Given the description of an element on the screen output the (x, y) to click on. 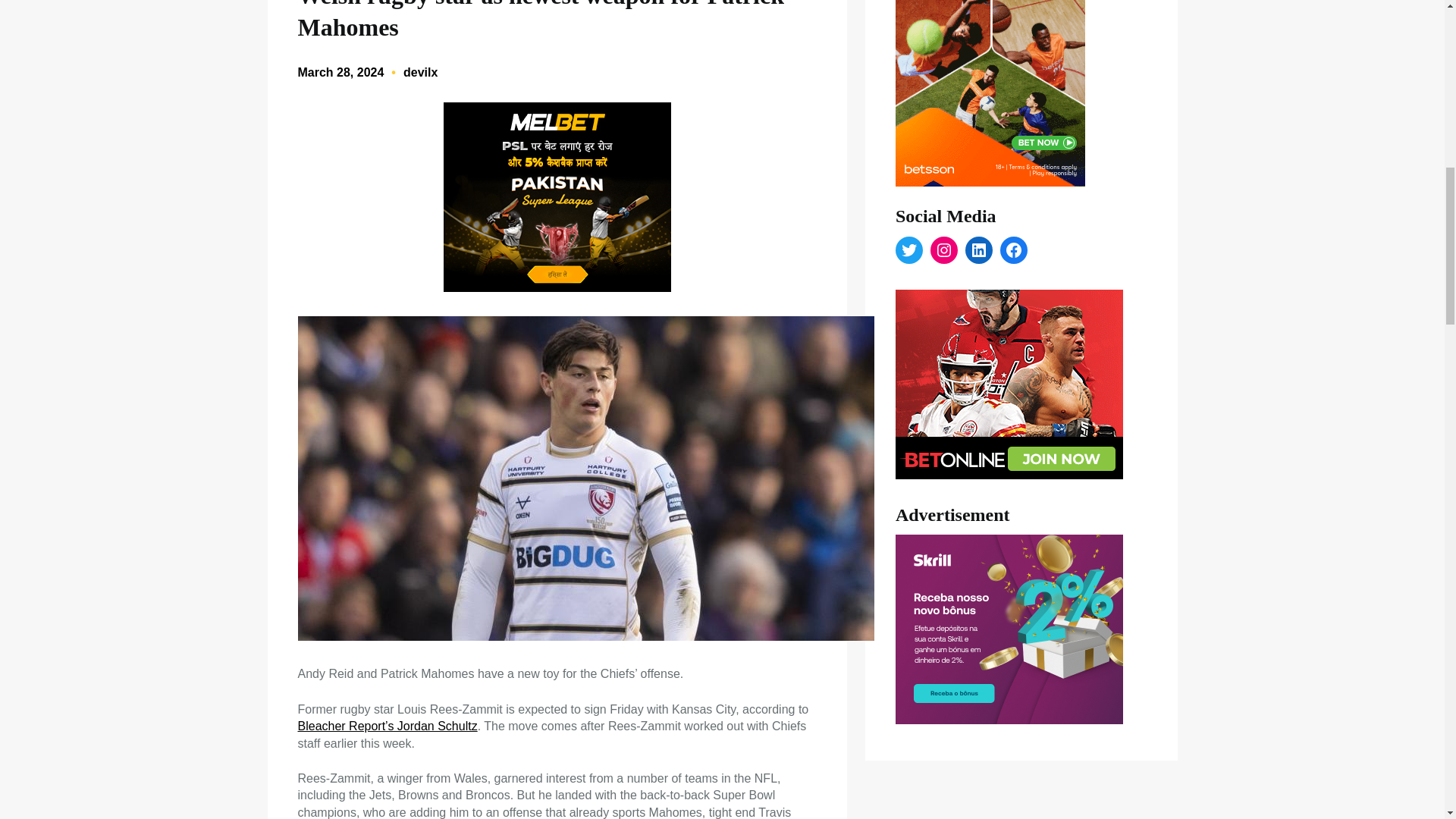
Twitter (909, 249)
devilx (420, 72)
LinkedIn (978, 249)
Facebook (1013, 249)
Instagram (944, 249)
